Given the description of an element on the screen output the (x, y) to click on. 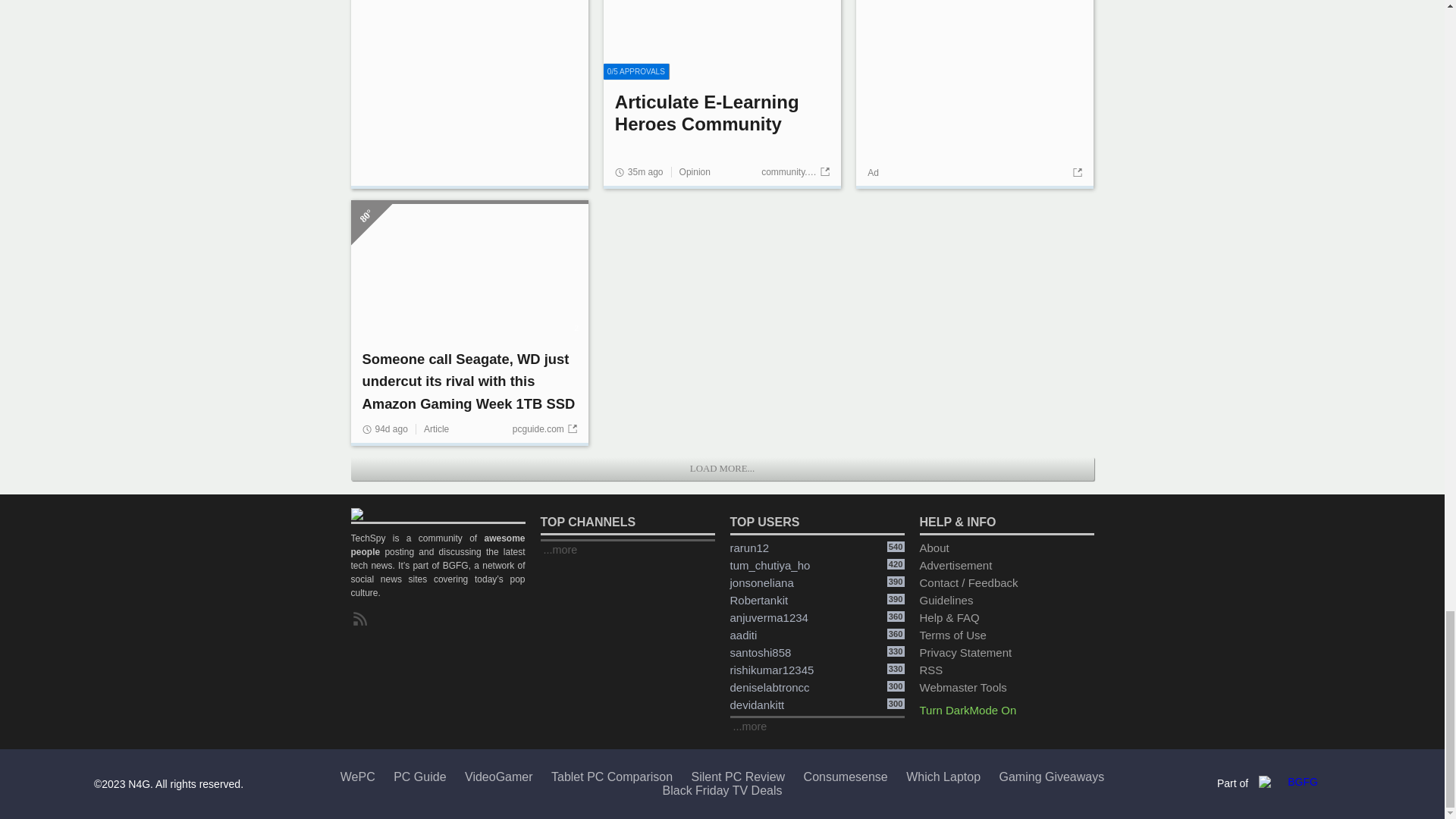
Go to source: pcguide.com (544, 429)
Go to source: community.articulate.com (795, 172)
RSS Feed (362, 619)
Go to source (1074, 172)
